Given the description of an element on the screen output the (x, y) to click on. 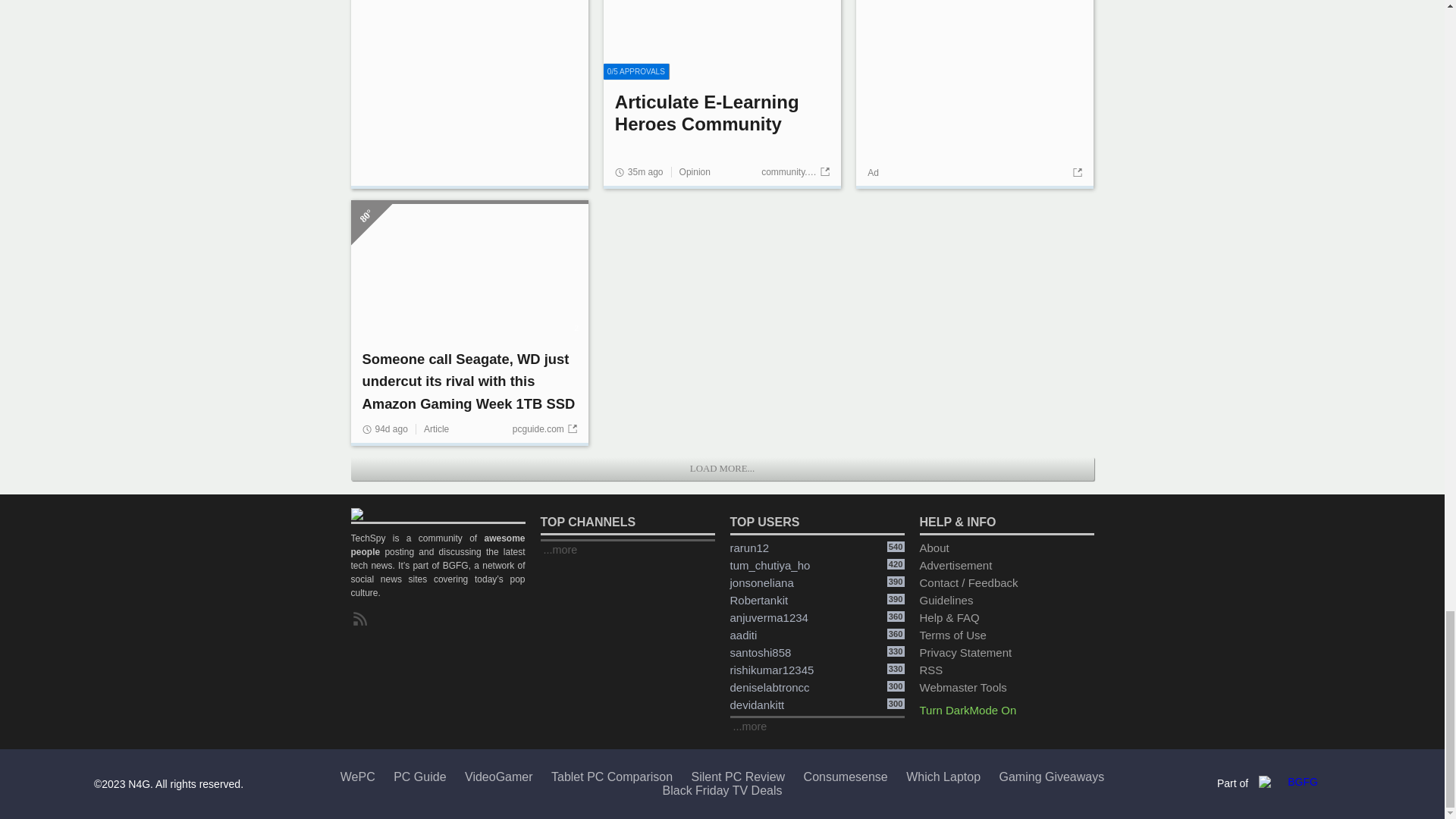
Go to source: pcguide.com (544, 429)
Go to source: community.articulate.com (795, 172)
RSS Feed (362, 619)
Go to source (1074, 172)
